Given the description of an element on the screen output the (x, y) to click on. 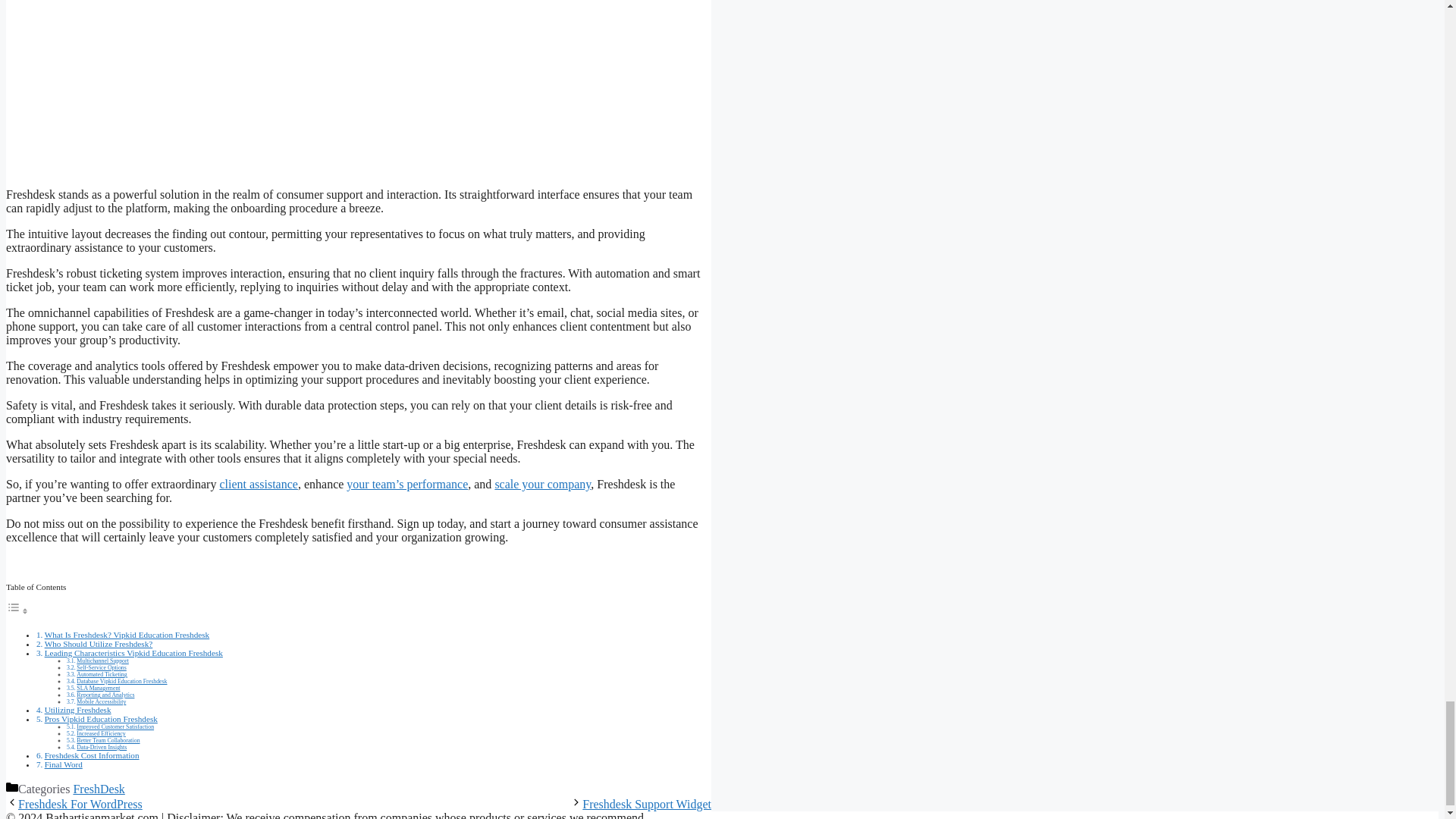
SLA Management (98, 687)
Improved Customer Satisfaction (115, 726)
Automated Ticketing (101, 674)
Increased Efficiency (101, 733)
Freshdesk Support Widget (646, 803)
Multichannel Support (103, 660)
Who Should Utilize Freshdesk? (98, 643)
FreshDesk (97, 788)
SLA Management (98, 687)
Automated Ticketing (101, 674)
What Is Freshdesk? Vipkid Education Freshdesk (127, 634)
Data-Driven Insights (101, 747)
Leading Characteristics Vipkid Education Freshdesk (133, 652)
Self-Service Options (101, 667)
Freshdesk For WordPress (79, 803)
